Given the description of an element on the screen output the (x, y) to click on. 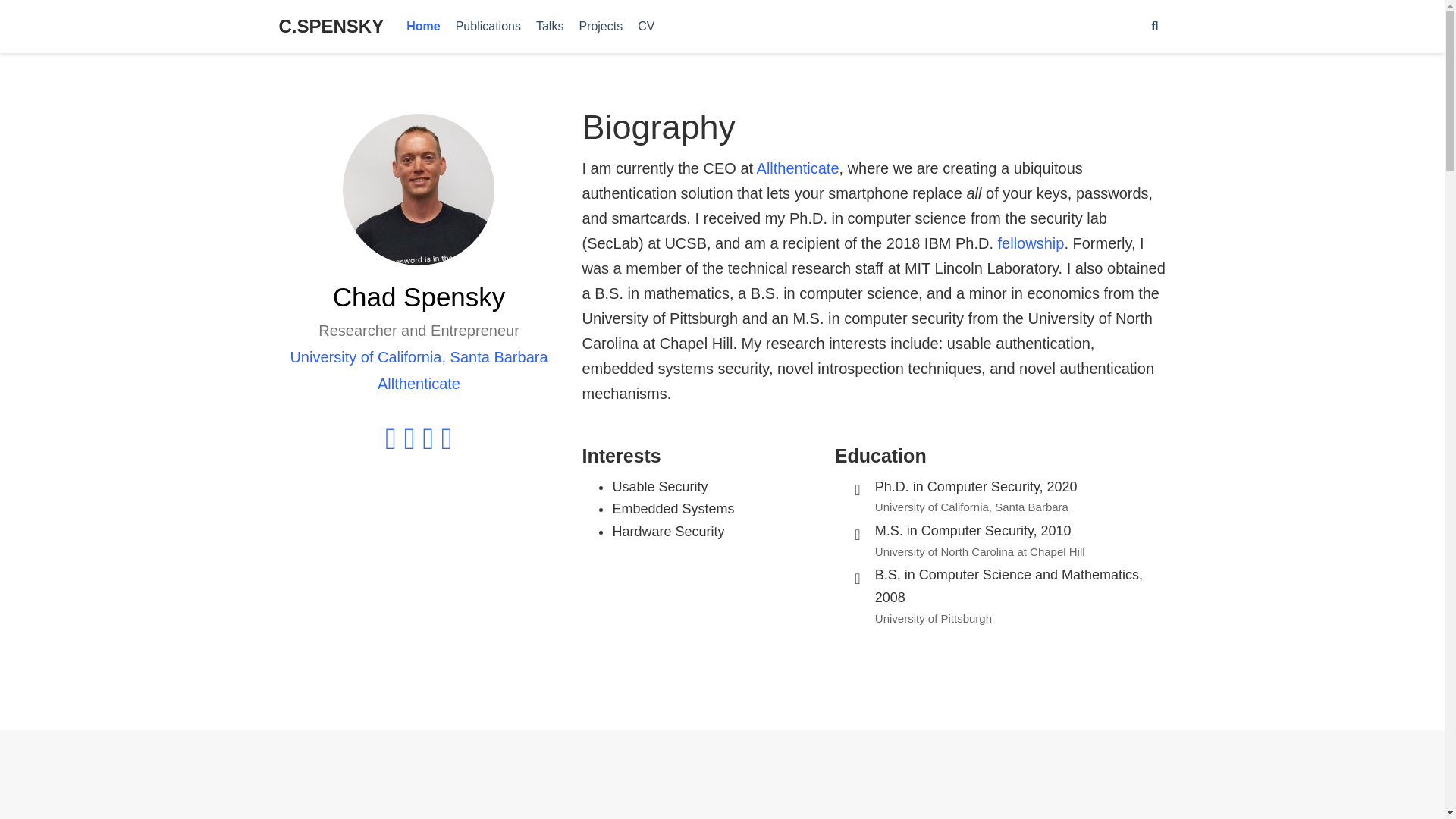
fellowship (1030, 243)
Home (422, 26)
Hamed Okhravi (998, 818)
Chad Spensky (645, 818)
University of California, Santa Barbara (418, 356)
Allthenticate (418, 383)
Aravind Machiry (767, 818)
Projects (600, 26)
Publications (488, 26)
Nathan Burow (883, 818)
